Given the description of an element on the screen output the (x, y) to click on. 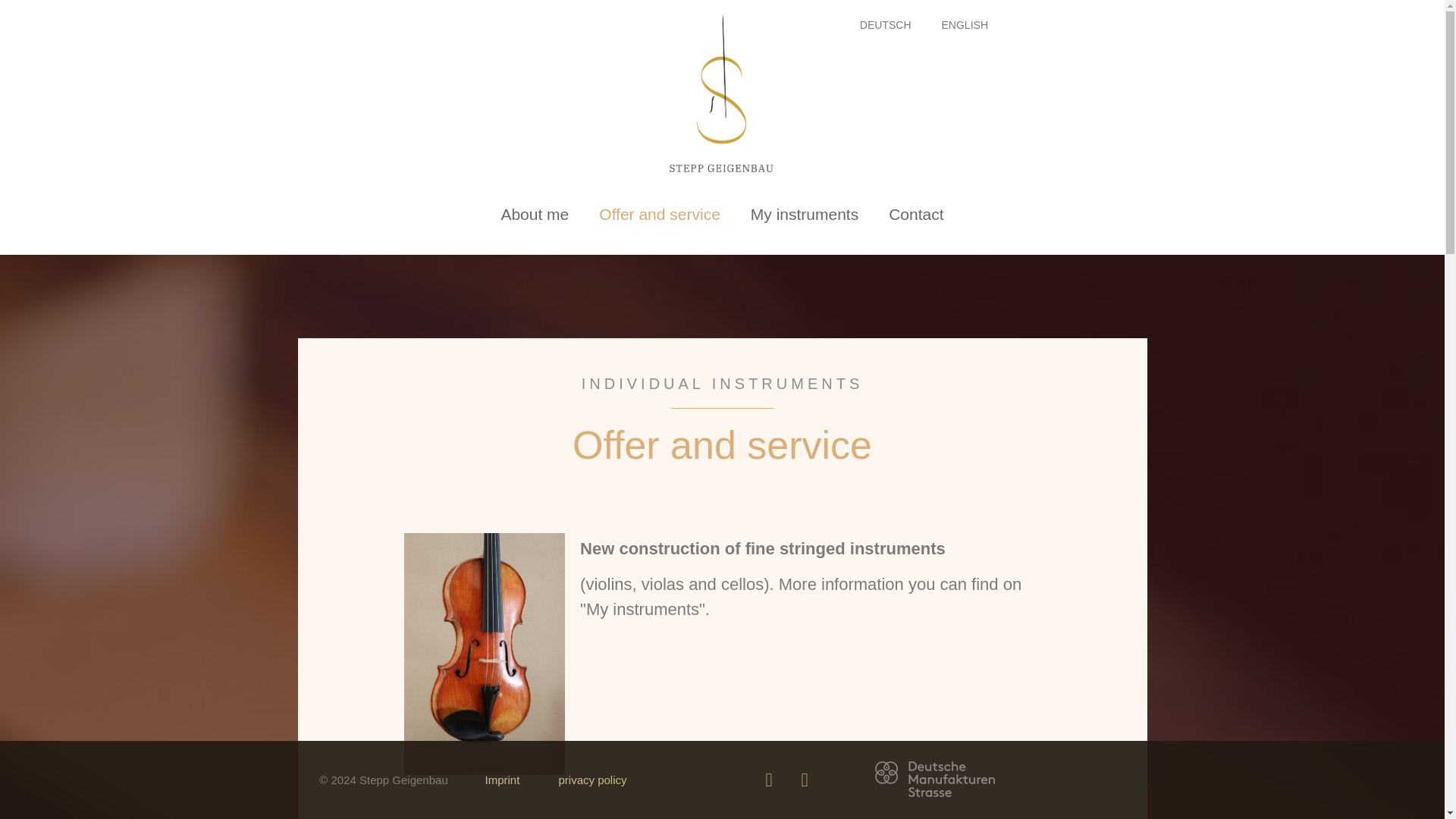
privacy policy (591, 779)
Contact (915, 214)
DEUTSCH (885, 24)
About me (533, 214)
Imprint (501, 779)
ENGLISH (964, 24)
Offer and service (659, 214)
My instruments (804, 214)
